Given the description of an element on the screen output the (x, y) to click on. 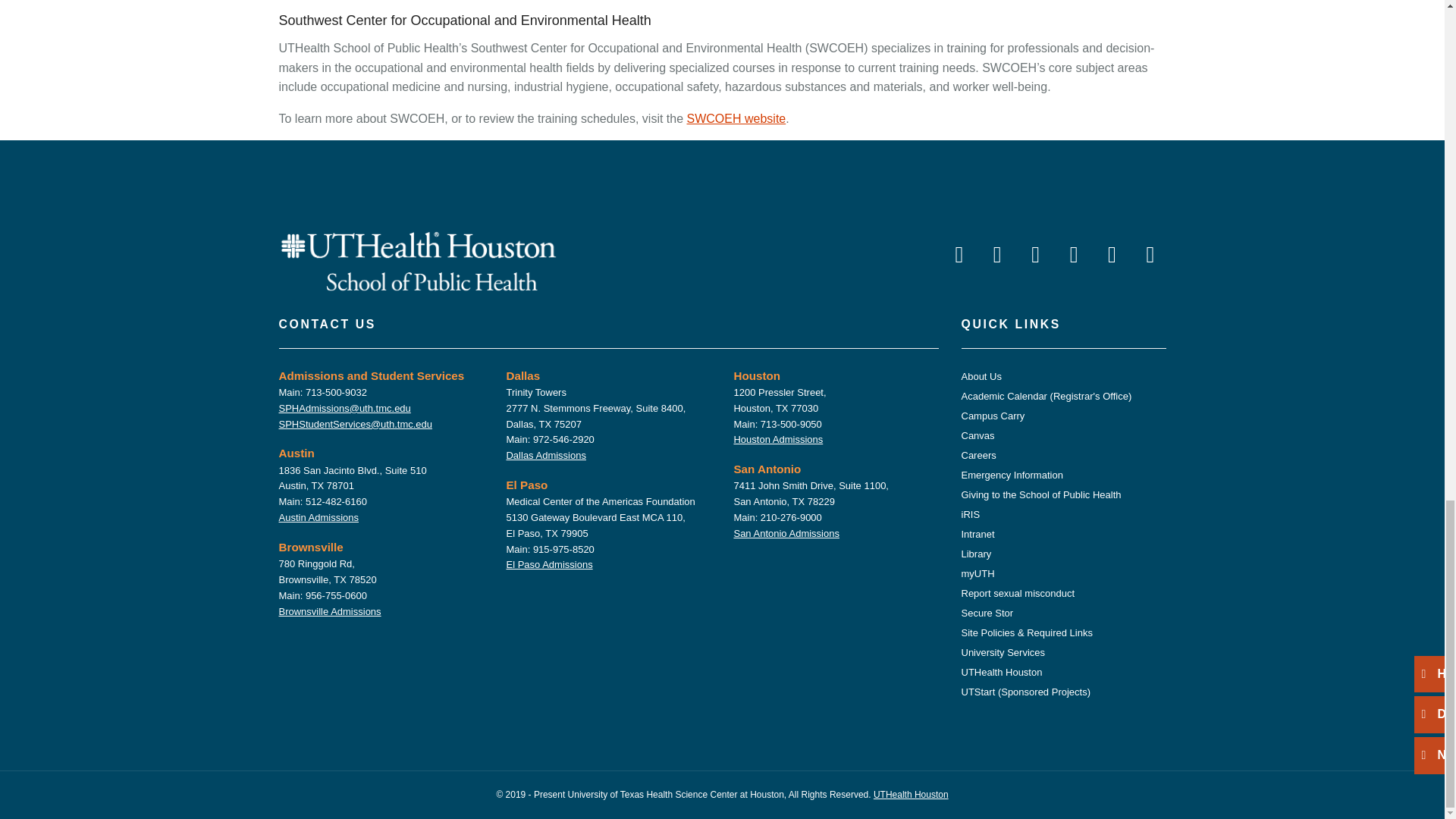
El Paso Campus Admissions (548, 564)
Austin Campus Admissions (319, 517)
SWCOEH website (736, 118)
Dallas Campus Admissions (545, 455)
Link to SPH Website (419, 259)
Houston Campus Admissions (777, 439)
Brownsville Campus Admissions (330, 611)
San Antonio Campus Admissions (785, 532)
